Given the description of an element on the screen output the (x, y) to click on. 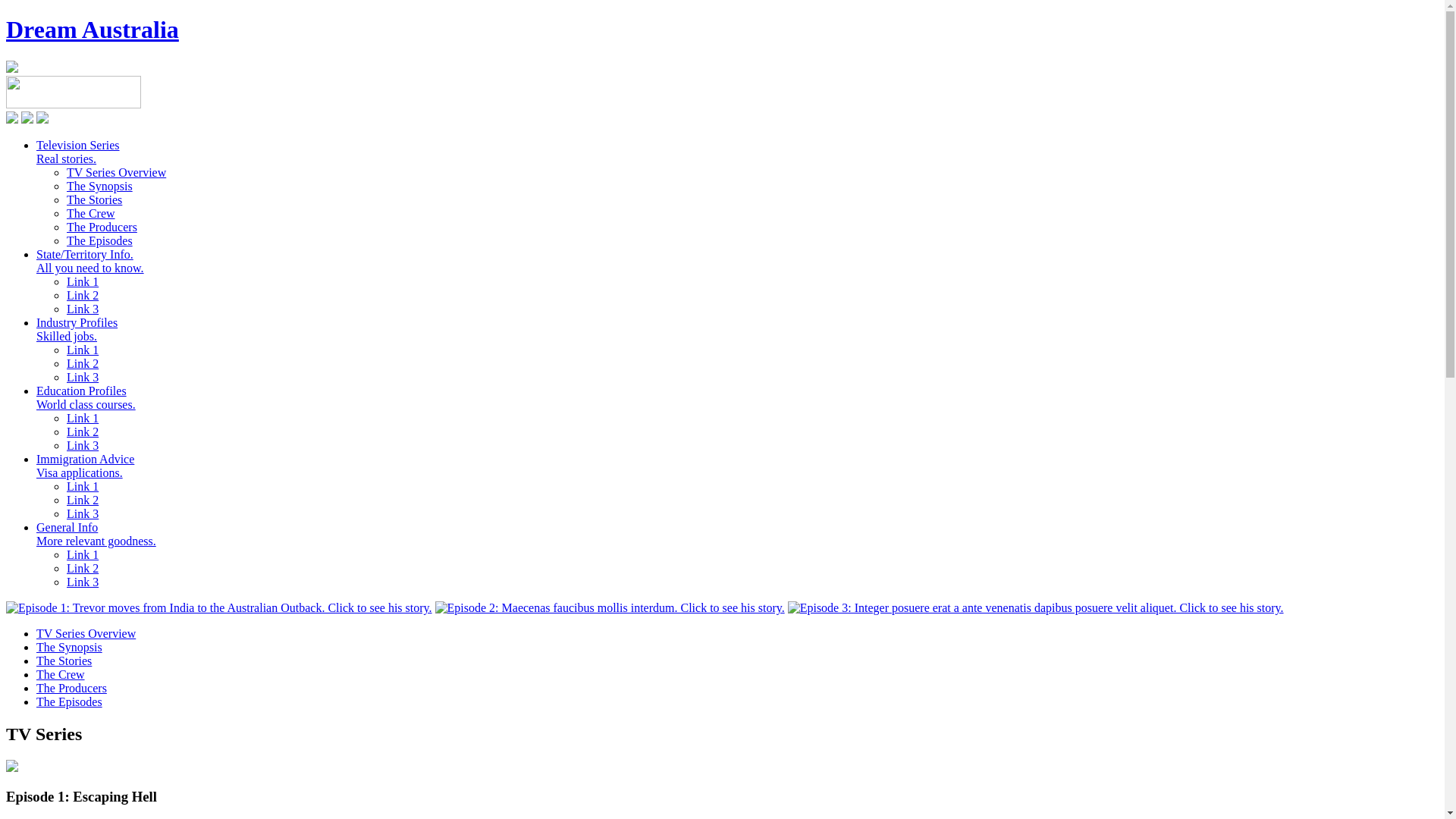
Link 2 Element type: text (82, 567)
Link 3 Element type: text (82, 376)
Link 1 Element type: text (82, 417)
Link 2 Element type: text (82, 431)
Link 1 Element type: text (82, 281)
The Synopsis Element type: text (99, 185)
Immigration Advice
Visa applications. Element type: text (85, 465)
Television Series
Real stories. Element type: text (77, 151)
The Crew Element type: text (90, 213)
The Synopsis Element type: text (69, 646)
The Episodes Element type: text (69, 701)
Link 3 Element type: text (82, 445)
Link 1 Element type: text (82, 349)
The Stories Element type: text (63, 660)
Industry Profiles
Skilled jobs. Element type: text (76, 329)
General Info
More relevant goodness. Element type: text (96, 533)
The Producers Element type: text (71, 687)
The Crew Element type: text (60, 674)
Link 3 Element type: text (82, 581)
The Producers Element type: text (101, 226)
Education Profiles
World class courses. Element type: text (85, 397)
Link 1 Element type: text (82, 486)
Link 1 Element type: text (82, 554)
Dream Australia Element type: text (92, 29)
TV Series Overview Element type: text (116, 172)
Link 2 Element type: text (82, 499)
The Episodes Element type: text (99, 240)
Link 2 Element type: text (82, 363)
The Stories Element type: text (94, 199)
Link 3 Element type: text (82, 308)
TV Series Overview Element type: text (85, 633)
Link 2 Element type: text (82, 294)
Link 3 Element type: text (82, 513)
State/Territory Info.
All you need to know. Element type: text (90, 260)
